Given the description of an element on the screen output the (x, y) to click on. 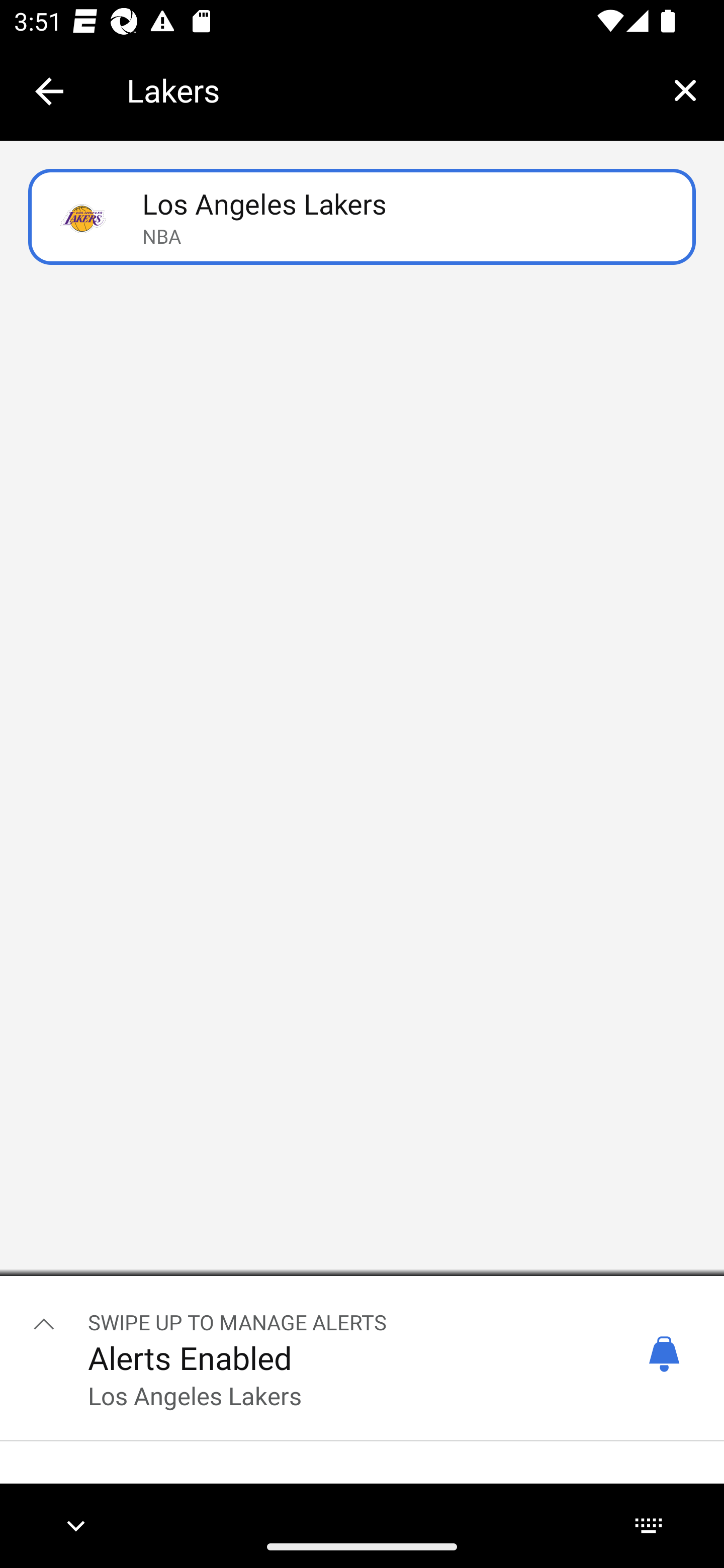
Collapse (49, 91)
Clear query (685, 89)
Lakers (386, 90)
Los Angeles Lakers Los Angeles LakersSelected NBA (361, 216)
 (44, 1323)
